Given the description of an element on the screen output the (x, y) to click on. 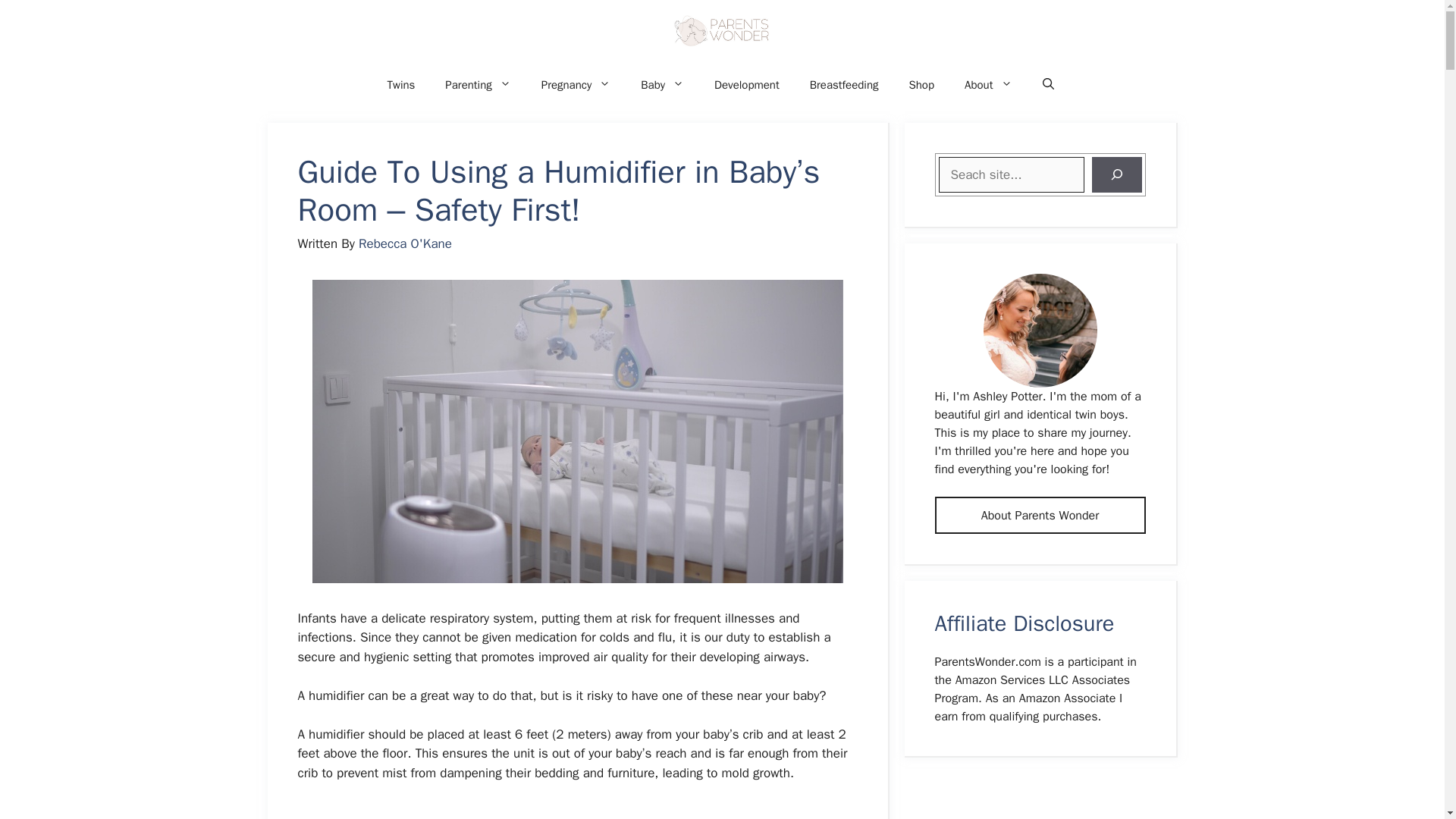
Breastfeeding (843, 84)
About (987, 84)
Twins (400, 84)
Development (746, 84)
Rebecca O'Kane (404, 243)
View all posts by Rebecca O'Kane (404, 243)
Parenting (477, 84)
Baby (662, 84)
Shop (921, 84)
Pregnancy (575, 84)
